Given the description of an element on the screen output the (x, y) to click on. 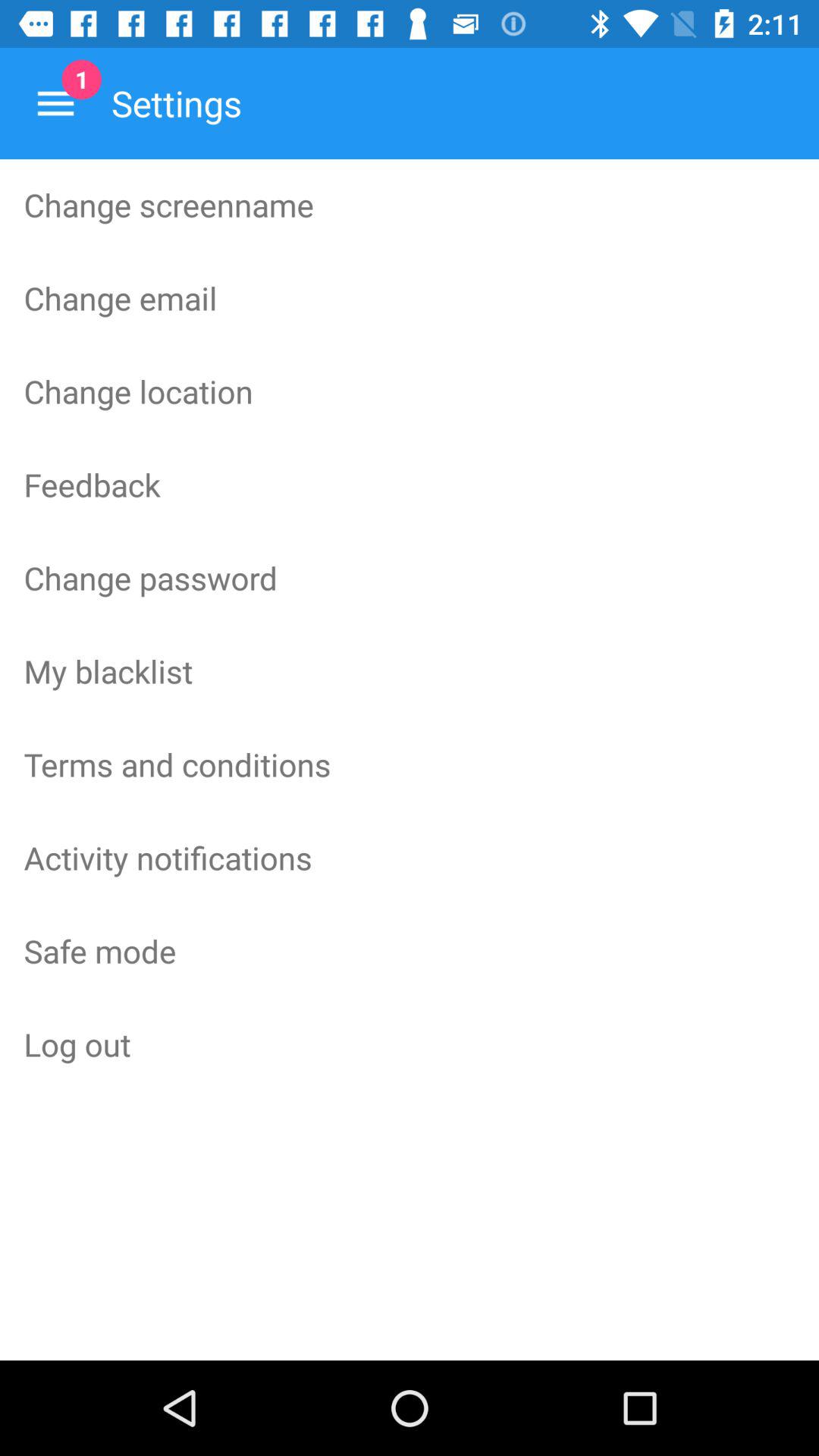
choose the icon above the change location icon (409, 297)
